Given the description of an element on the screen output the (x, y) to click on. 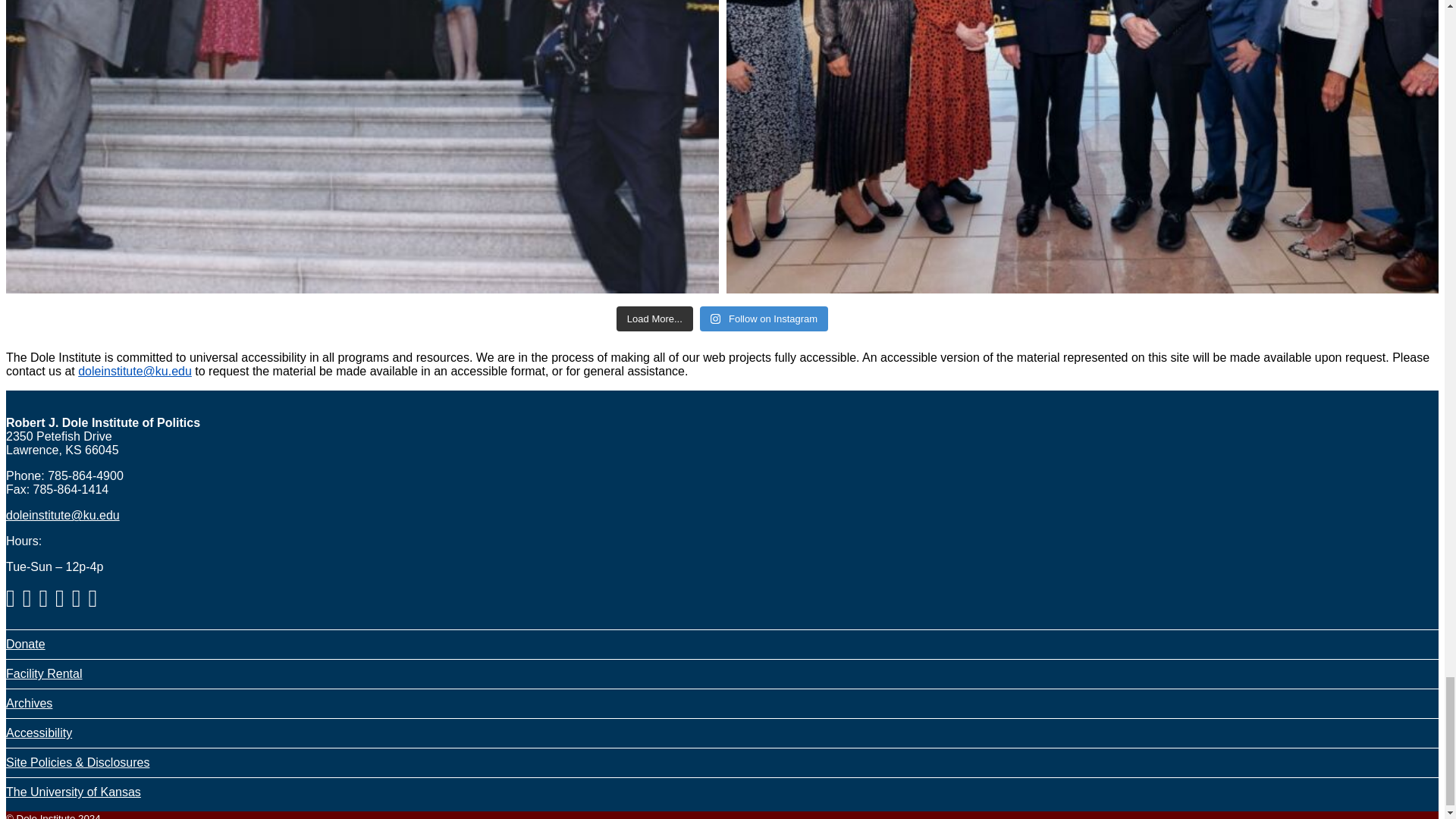
Facility Rental (43, 673)
Donate (25, 644)
Archives (28, 703)
Load More... (654, 319)
Follow on Instagram (764, 319)
